Given the description of an element on the screen output the (x, y) to click on. 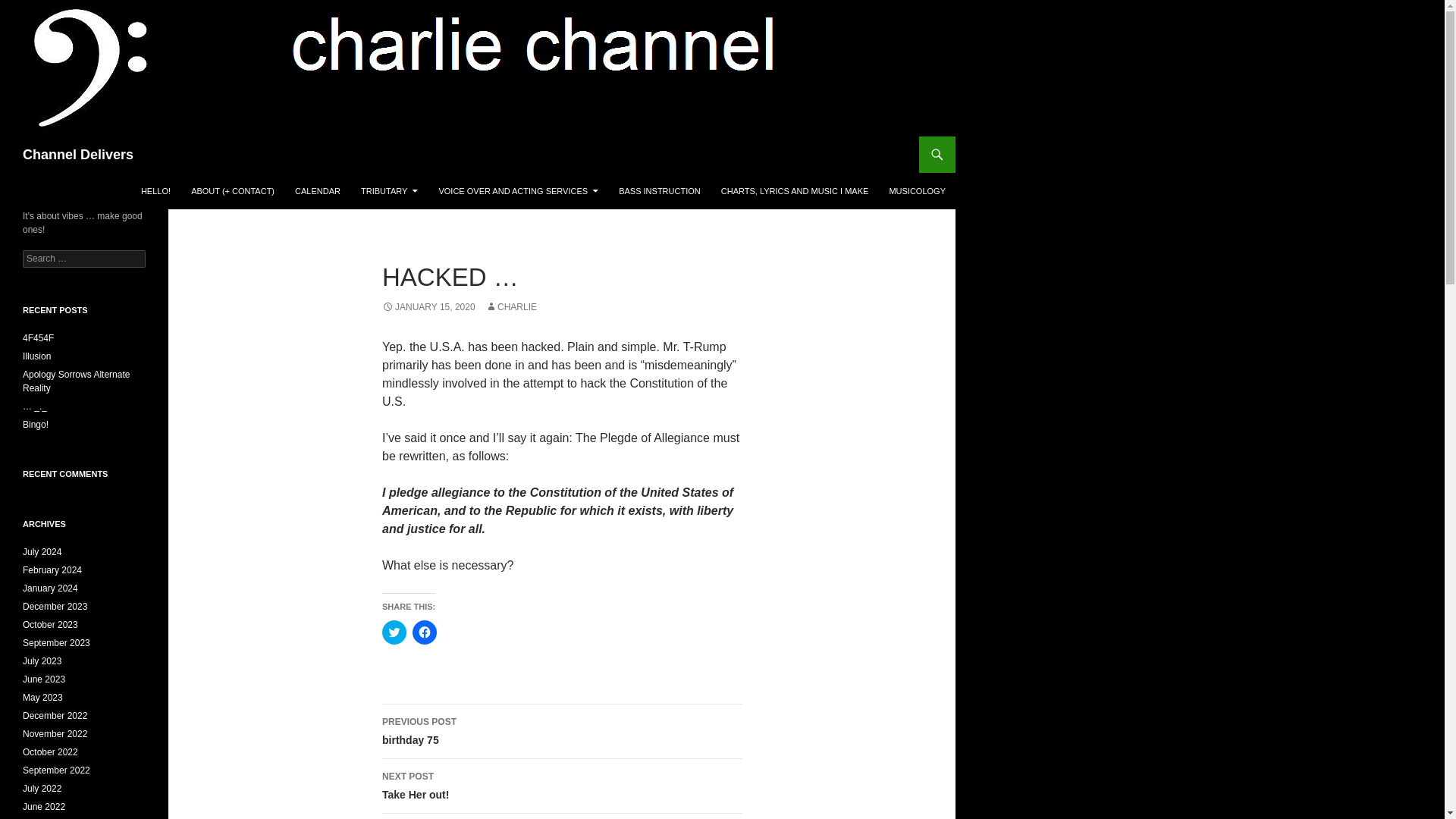
4F454F (38, 337)
Search (30, 8)
CHARTS, LYRICS AND MUSIC I MAKE (794, 190)
September 2023 (56, 643)
Bingo! (35, 424)
July 2024 (42, 552)
January 2024 (50, 588)
JANUARY 15, 2020 (428, 307)
Click to share on Facebook (424, 631)
Click to share on Twitter (561, 731)
Illusion (393, 631)
February 2024 (36, 356)
MUSICOLOGY (52, 570)
